Given the description of an element on the screen output the (x, y) to click on. 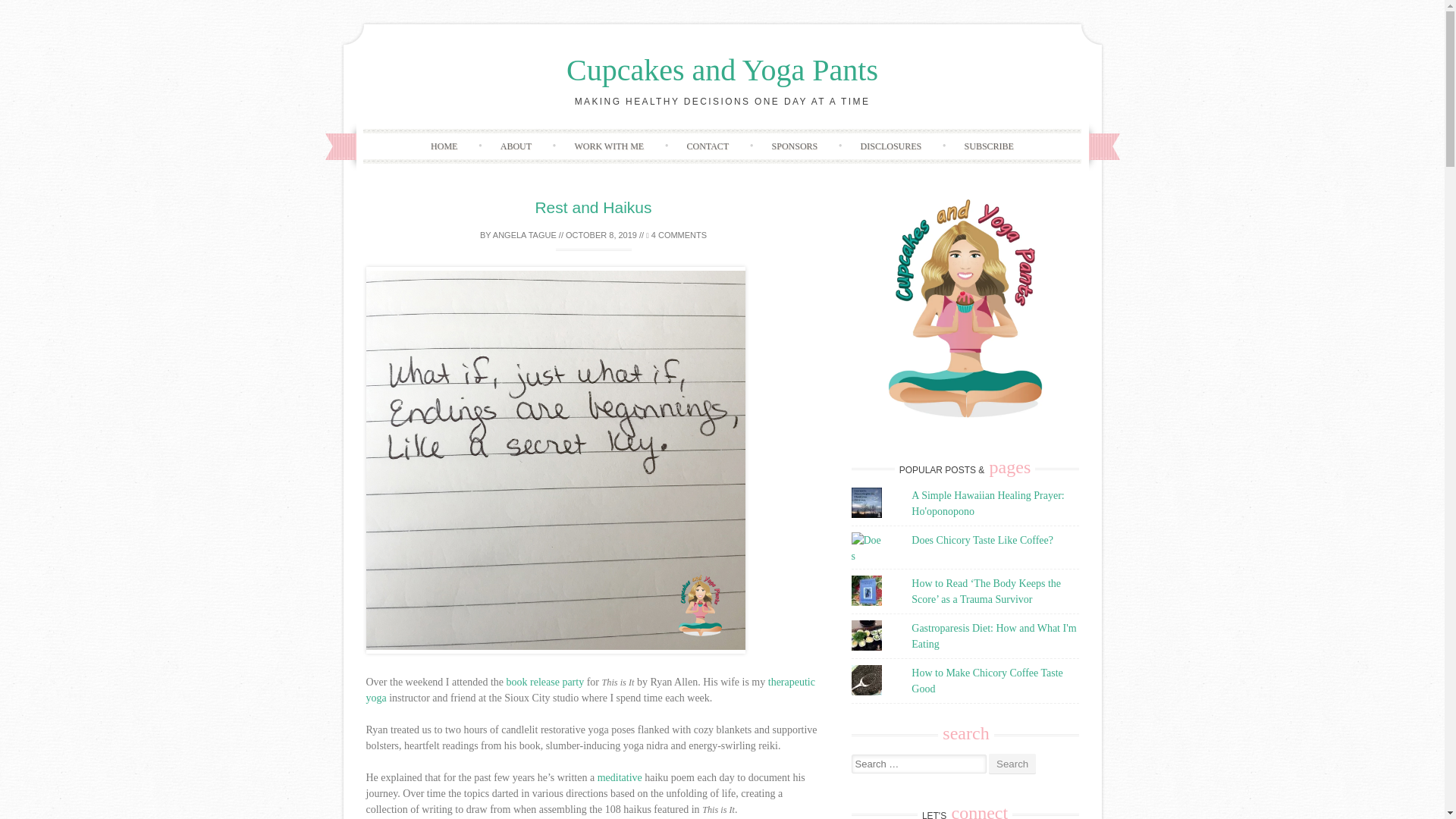
meditative (619, 777)
Search (1011, 763)
ANGELA TAGUE (524, 234)
Search (1011, 763)
Rest and Haikus (592, 207)
View all posts by Angela Tague (524, 234)
Cupcakes and Yoga Pants (721, 69)
4 COMMENTS (676, 234)
DISCLOSURES (891, 145)
SPONSORS (794, 145)
therapeutic yoga (589, 689)
WORK WITH ME (609, 145)
3:00 pm (601, 234)
HOME (444, 145)
